Given the description of an element on the screen output the (x, y) to click on. 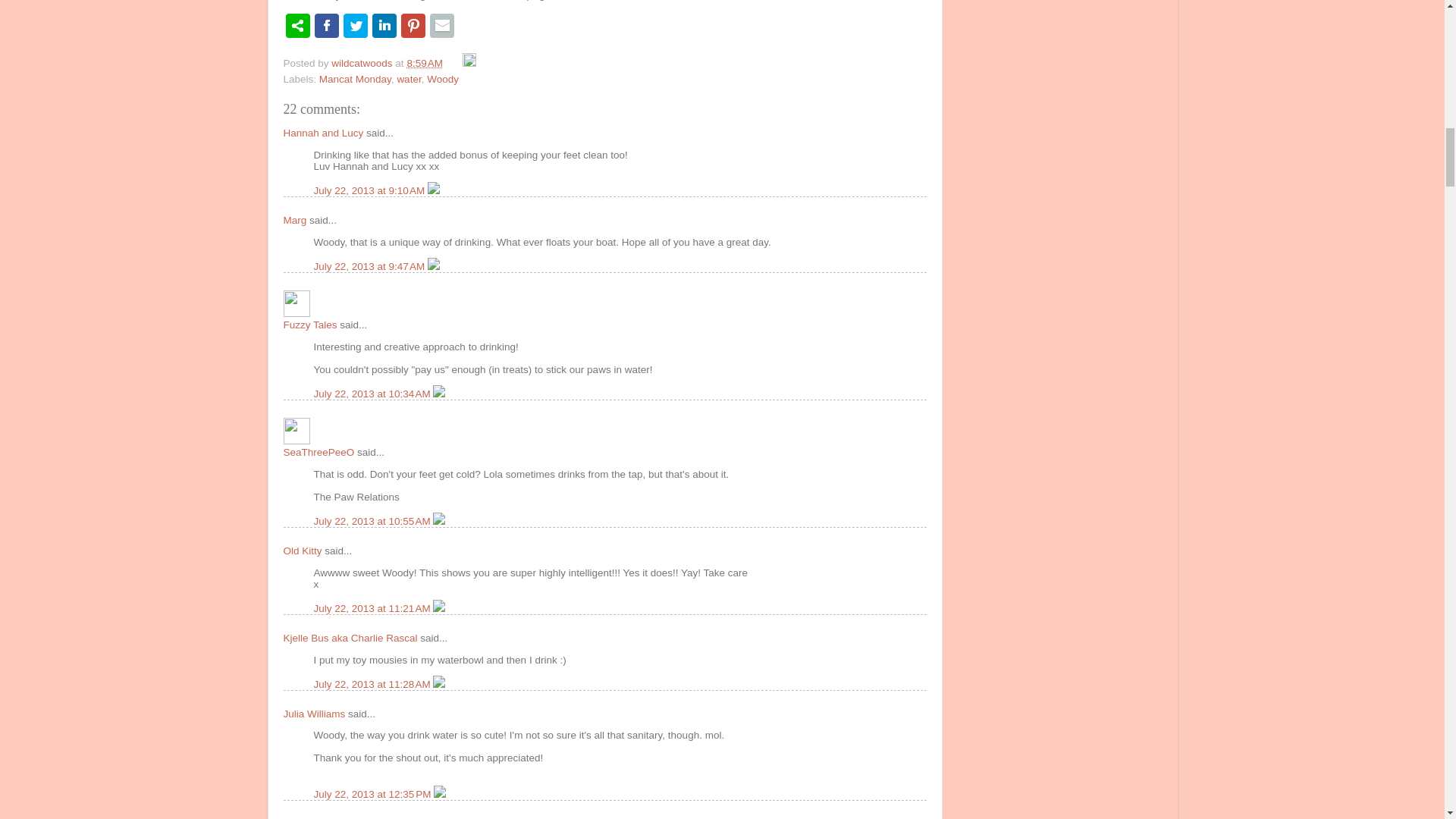
Fuzzy Tales (296, 303)
Fuzzy Tales (310, 324)
comment permalink (371, 266)
Mancat Monday (354, 79)
Email Post (454, 62)
SeaThreePeeO (319, 451)
comment permalink (371, 190)
water (408, 79)
comment permalink (373, 521)
Edit Post (469, 62)
SeaThreePeeO (296, 430)
Marg (295, 220)
Delete Comment (433, 266)
